Given the description of an element on the screen output the (x, y) to click on. 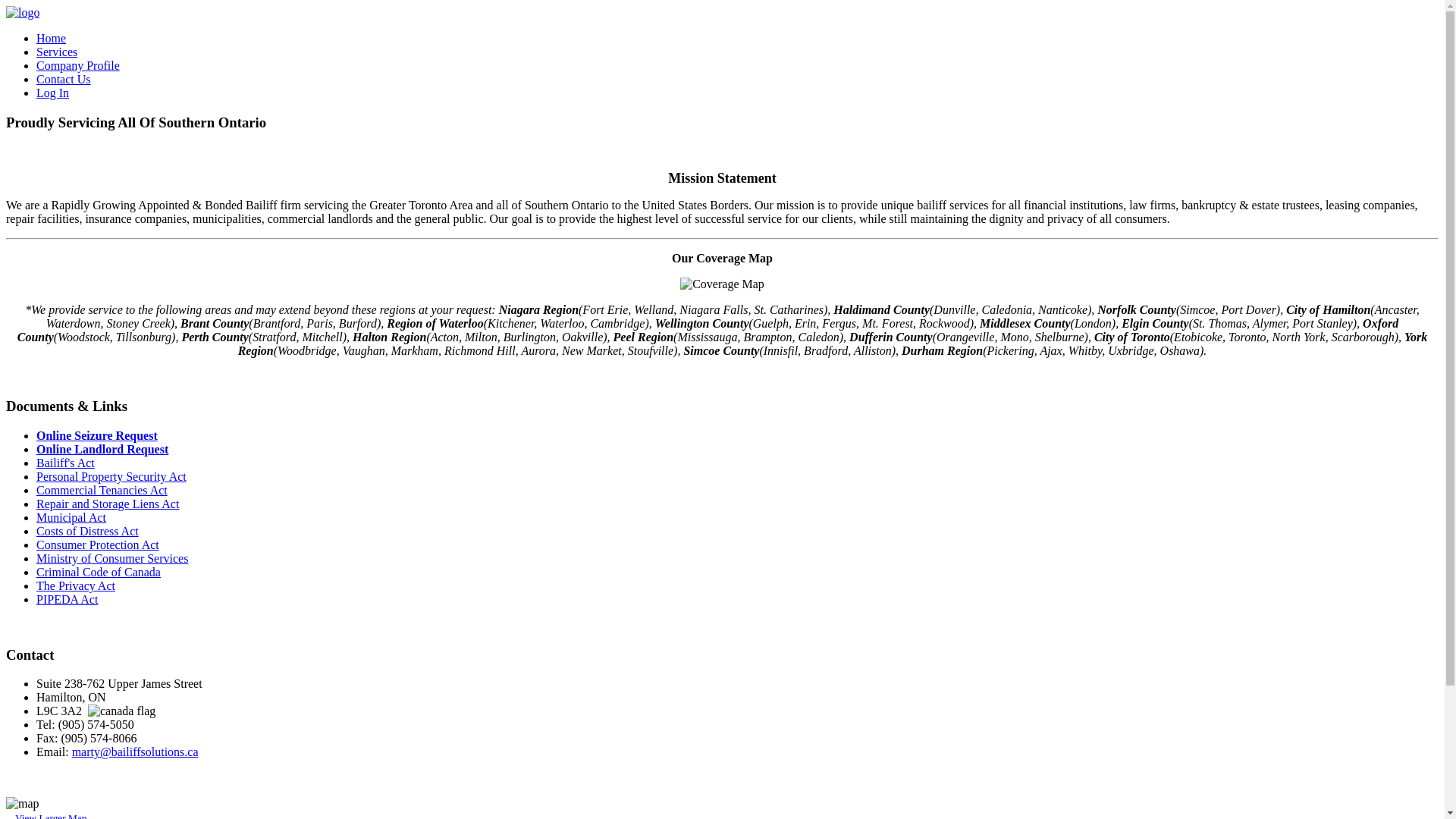
Log In Element type: text (52, 92)
Criminal Code of Canada Element type: text (98, 571)
Company Profile Element type: text (77, 65)
Ministry of Consumer Services Element type: text (112, 558)
Contact Us Element type: text (63, 78)
Municipal Act Element type: text (71, 517)
Home Element type: text (50, 37)
PIPEDA Act Element type: text (66, 599)
Costs of Distress Act Element type: text (87, 530)
Online Seizure Request Element type: text (96, 435)
Commercial Tenancies Act Element type: text (101, 489)
Bailiff's Act Element type: text (65, 462)
The Privacy Act Element type: text (75, 585)
Online Landlord Request Element type: text (102, 448)
Repair and Storage Liens Act Element type: text (107, 503)
Personal Property Security Act Element type: text (111, 476)
Services Element type: text (56, 51)
marty@bailiffsolutions.ca Element type: text (135, 751)
Consumer Protection Act Element type: text (97, 544)
